Given the description of an element on the screen output the (x, y) to click on. 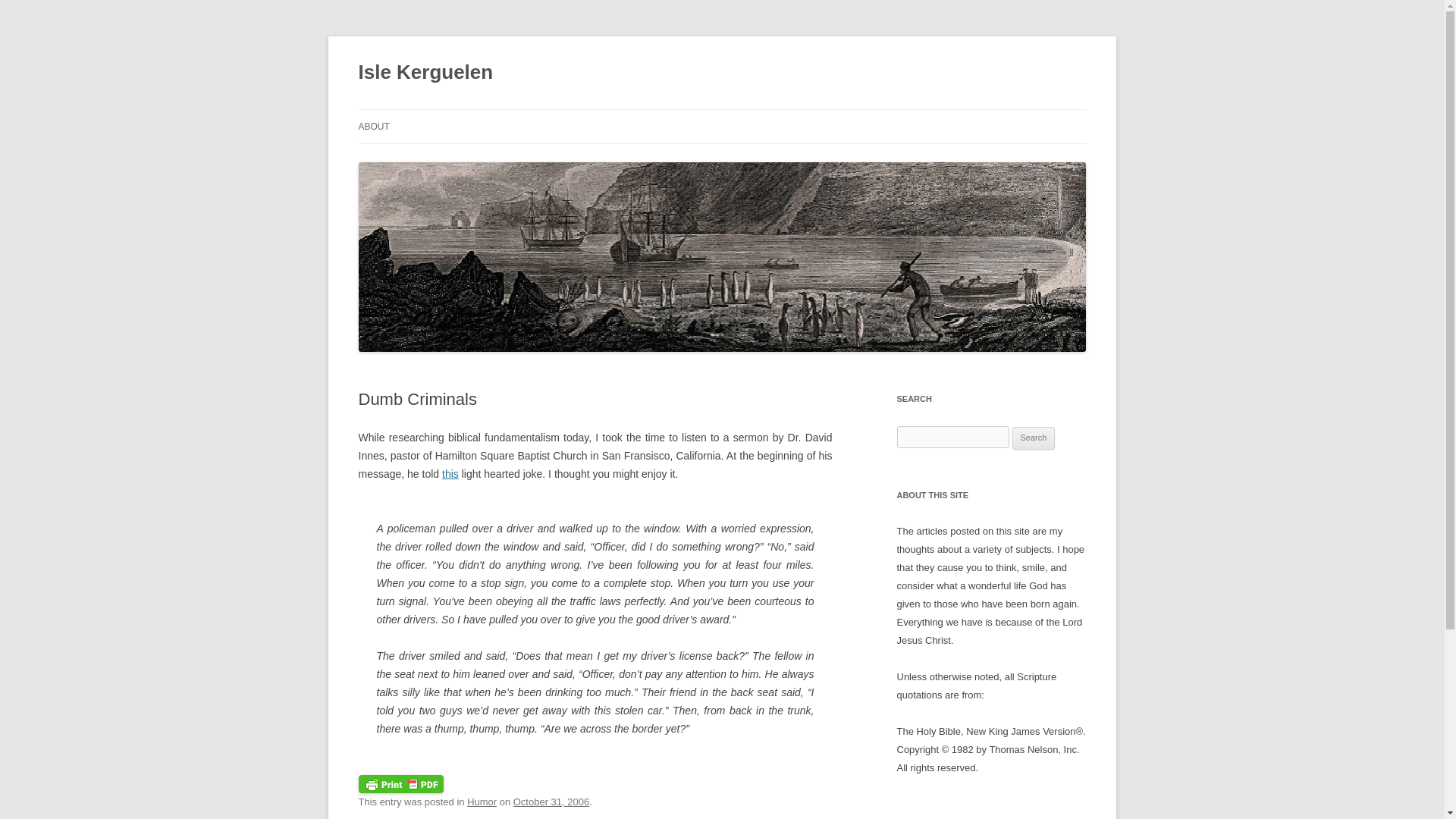
Isle Kerguelen (425, 72)
9:12 pm (551, 801)
October 31, 2006 (551, 801)
Search (1033, 437)
Search (1033, 437)
Humor (481, 801)
ABOUT (373, 126)
this (450, 473)
